Given the description of an element on the screen output the (x, y) to click on. 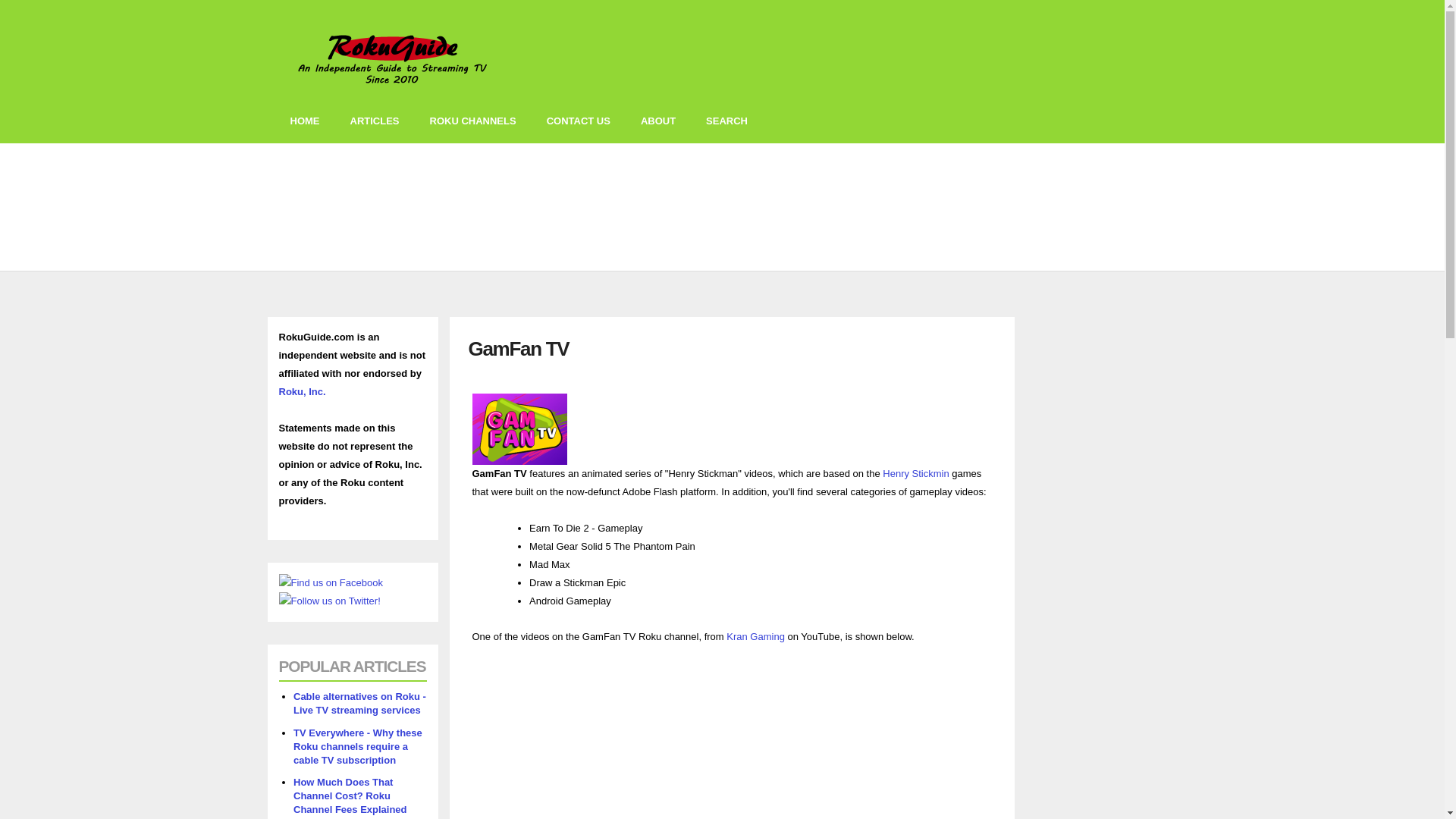
ARTICLES (374, 121)
ABOUT (658, 121)
Advertisement (608, 207)
Kran Gaming (755, 636)
Return to RokuGuide home page (304, 121)
About RokuGuide.com (658, 121)
ROKU CHANNELS (472, 121)
Contact form. (578, 121)
Roku Guide articles, reviews, updates and recommendations (374, 121)
YouTube video player (683, 741)
SEARCH (726, 121)
Roku, Inc. (302, 391)
CONTACT US (578, 121)
Skip to main content (677, 1)
